Given the description of an element on the screen output the (x, y) to click on. 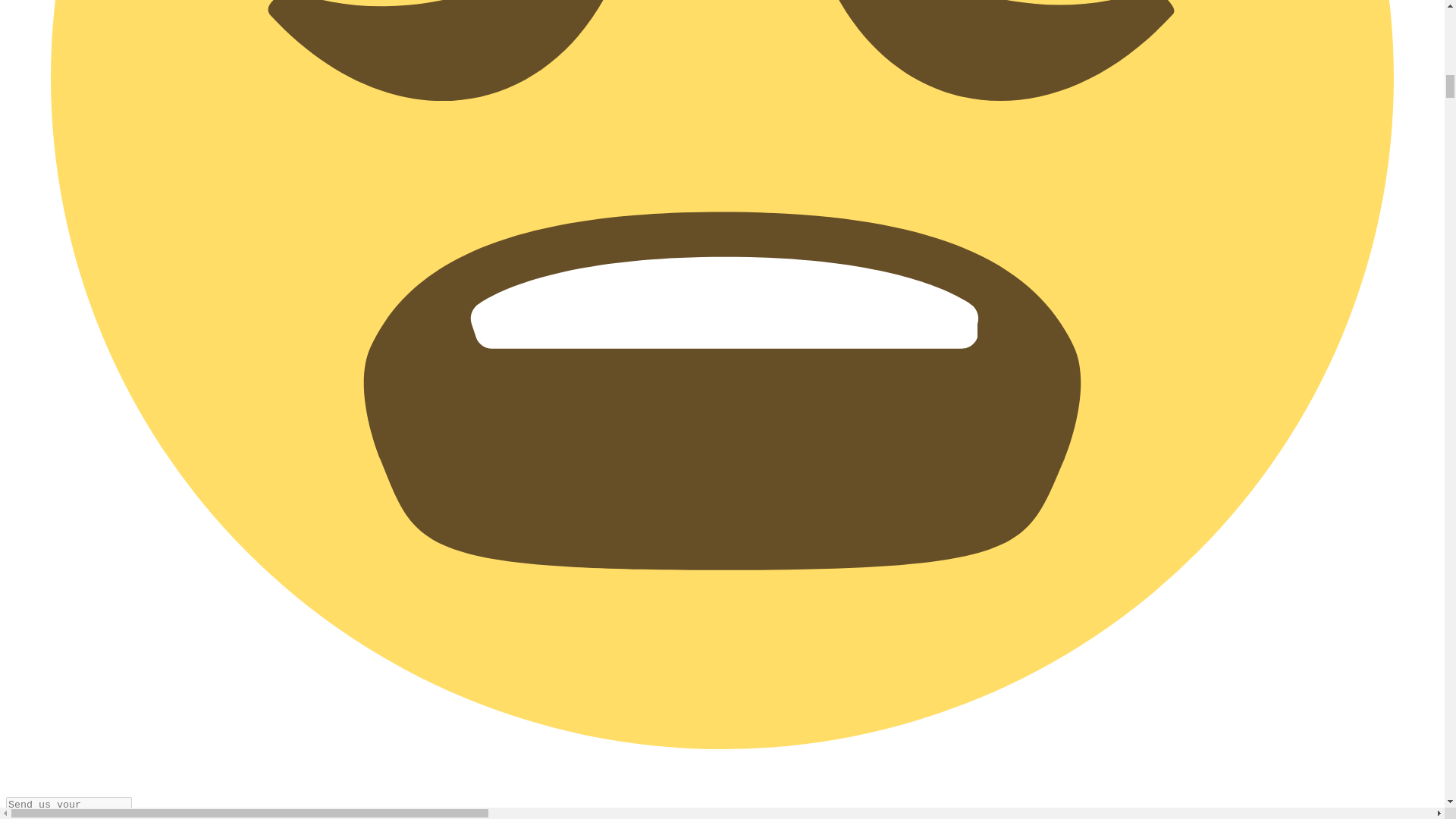
Submit Button (143, 814)
